Given the description of an element on the screen output the (x, y) to click on. 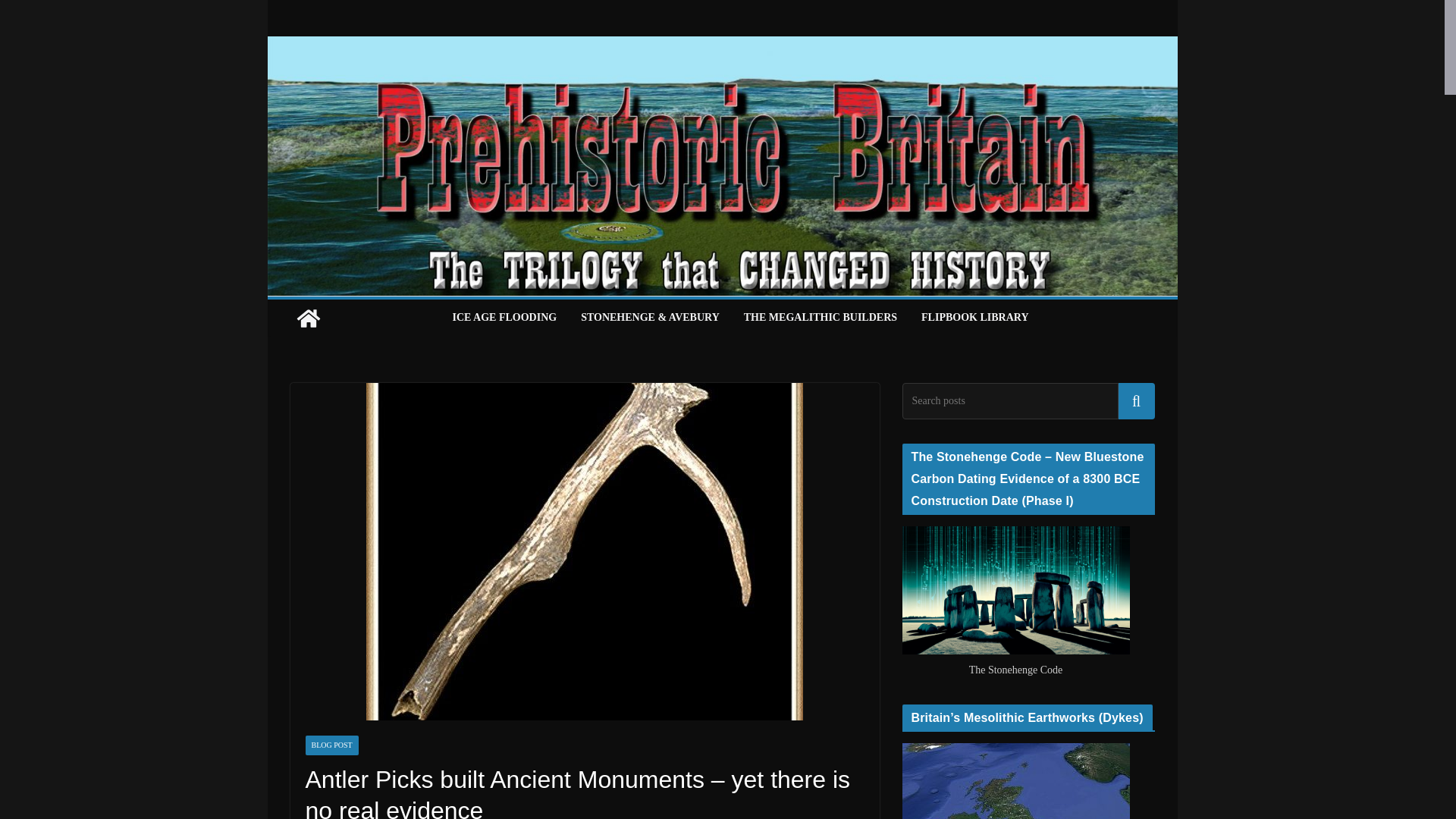
BLOG POST (331, 745)
ICE AGE FLOODING (503, 318)
THE MEGALITHIC BUILDERS (820, 318)
Prehistoric Britain (307, 318)
FLIPBOOK LIBRARY (974, 318)
